Given the description of an element on the screen output the (x, y) to click on. 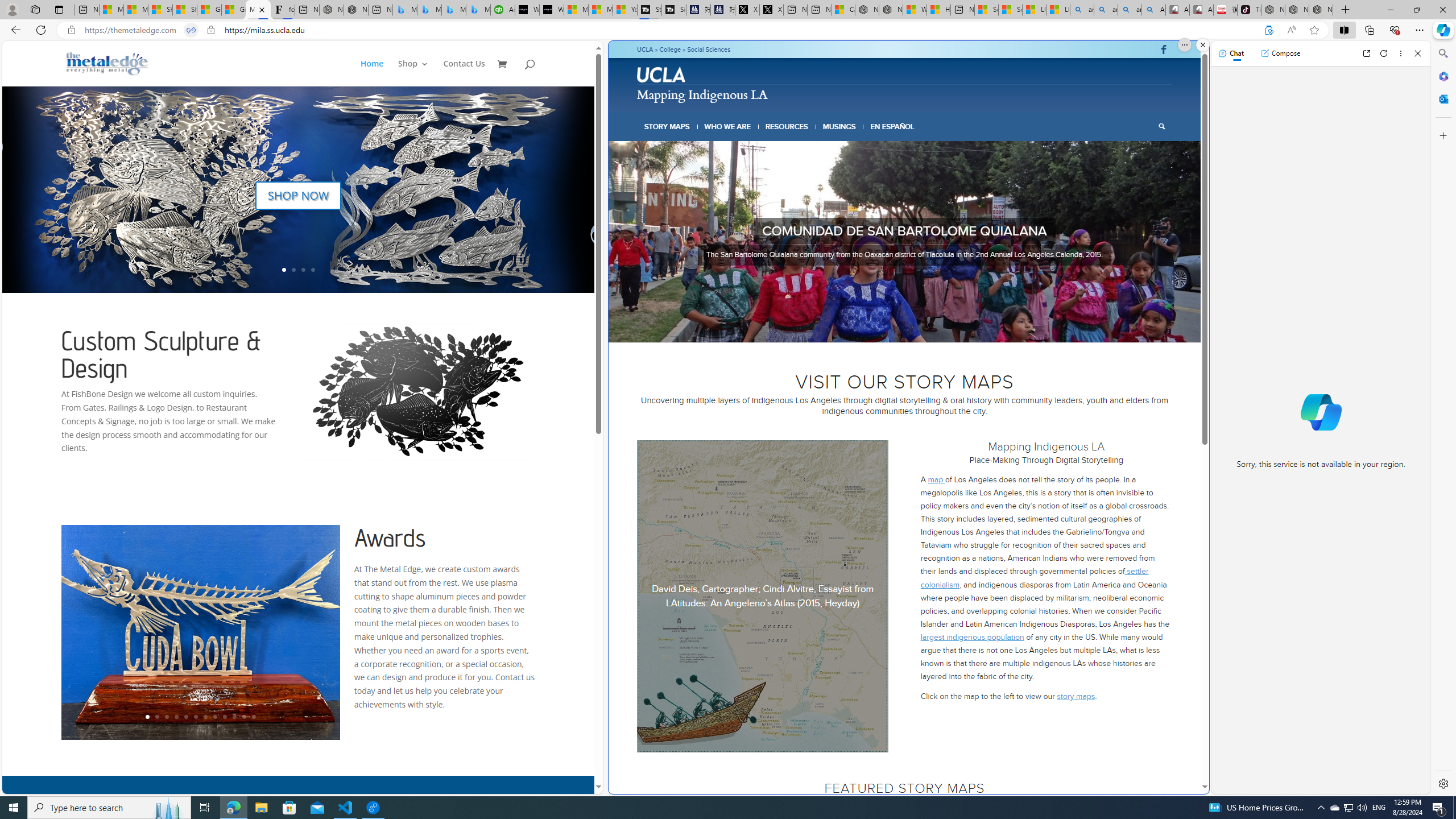
WHO WE ARE (727, 126)
2 (881, 328)
Chat (1231, 52)
11 (243, 716)
More options. (1183, 45)
RESOURCES (786, 126)
Mapping Indigenous LA (258, 9)
Mapping Indigenous LA (702, 93)
